Given the description of an element on the screen output the (x, y) to click on. 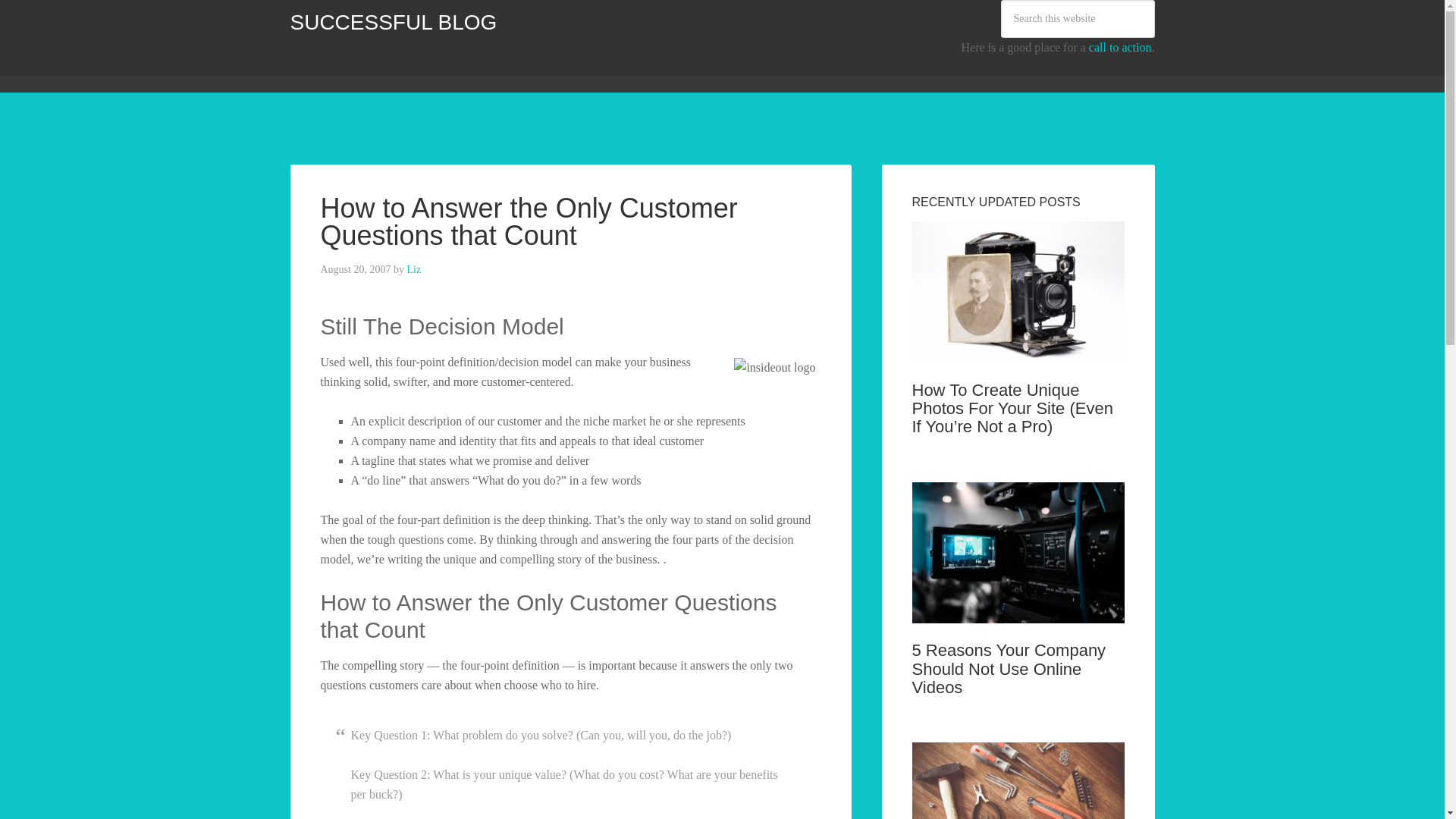
5 Reasons Your Company Should Not Use Online Videos (1008, 668)
Community (384, 68)
Liz (413, 269)
Stay Tuned (707, 68)
About (452, 68)
Home (315, 68)
call to action (1120, 47)
SUCCESSFUL BLOG (392, 22)
Author Guidelines (535, 68)
